Given the description of an element on the screen output the (x, y) to click on. 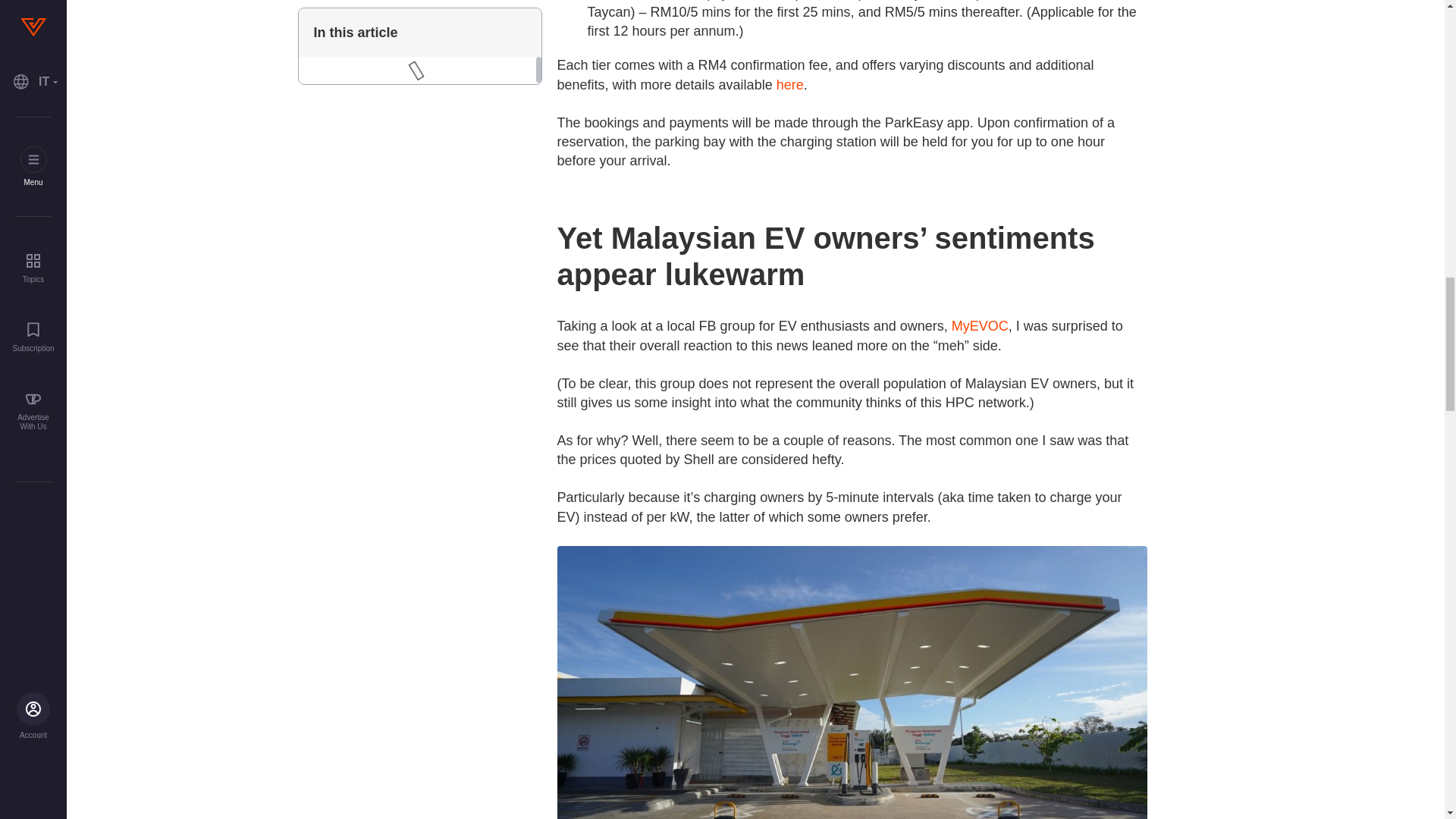
MyEVOC (980, 325)
here (789, 84)
